Given the description of an element on the screen output the (x, y) to click on. 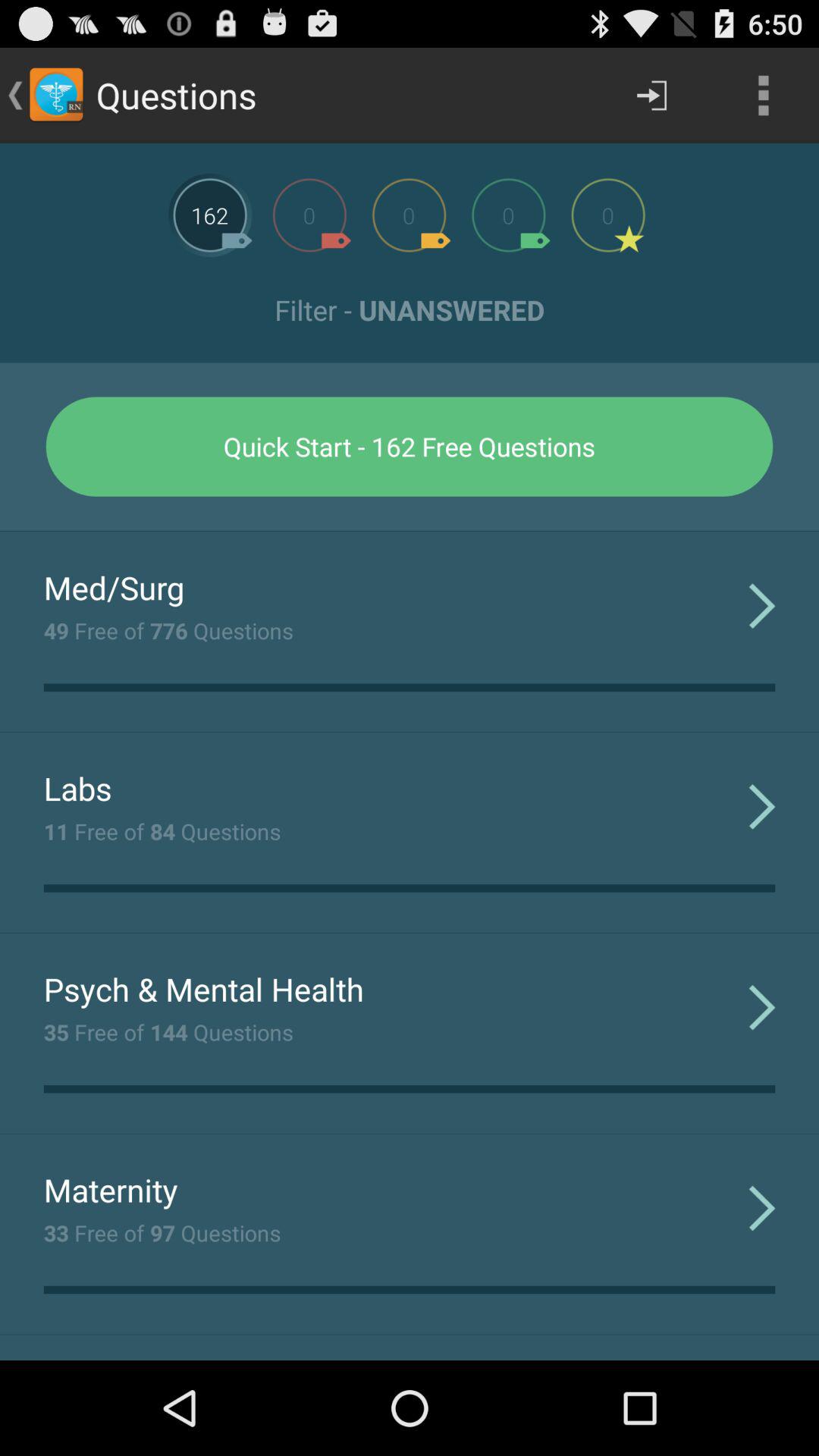
select app next to 49 free of (762, 605)
